Given the description of an element on the screen output the (x, y) to click on. 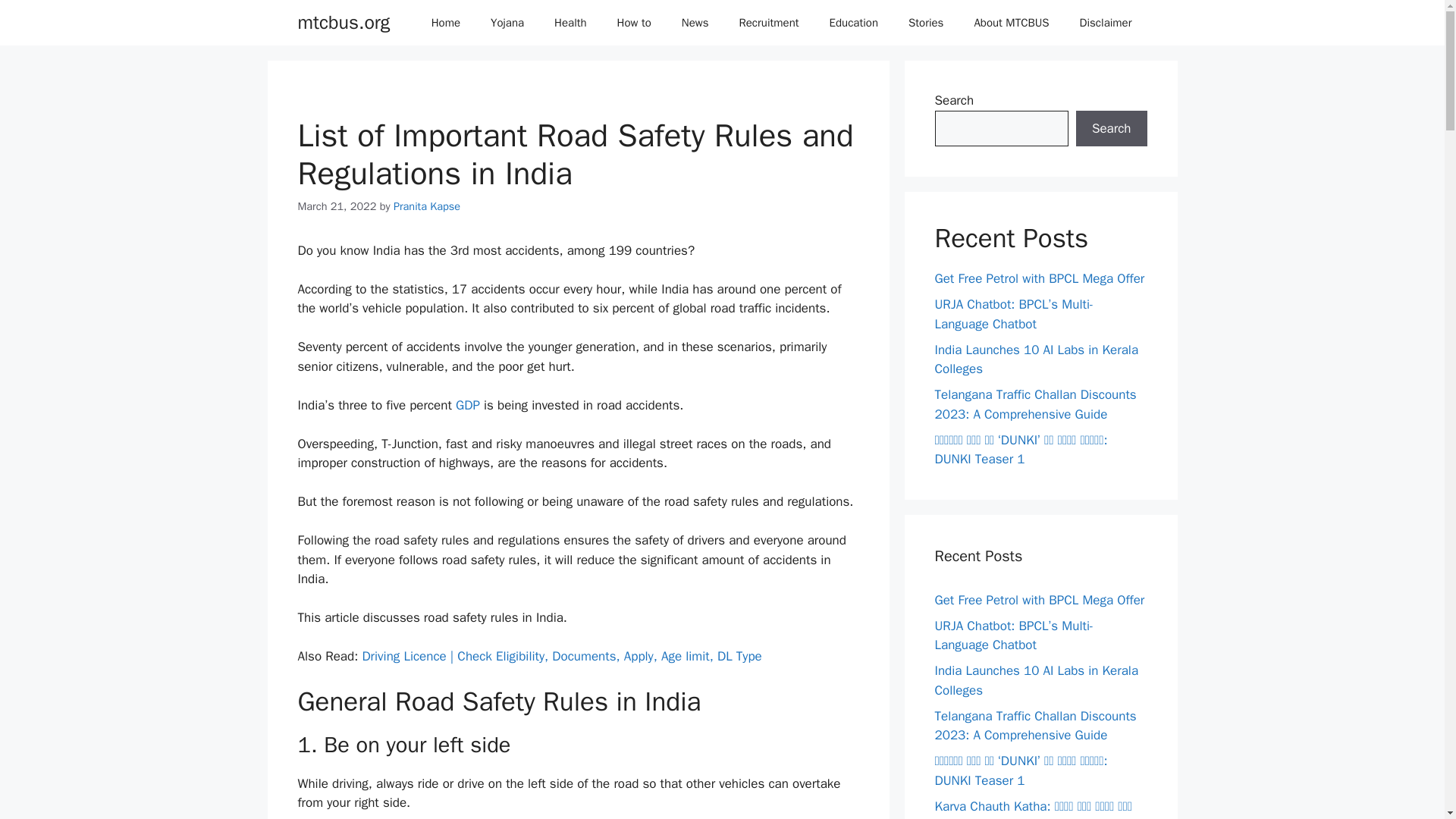
How to (634, 22)
Get Free Petrol with BPCL Mega Offer (1039, 599)
Health (570, 22)
Search (1111, 128)
Disclaimer (1105, 22)
Stories (925, 22)
India Launches 10 AI Labs in Kerala Colleges (1036, 358)
GDP (467, 405)
View all posts by Pranita Kapse (426, 205)
Pranita Kapse (426, 205)
Get Free Petrol with BPCL Mega Offer (1039, 278)
Recruitment (768, 22)
News (694, 22)
Education (853, 22)
mtcbus.org (343, 22)
